Given the description of an element on the screen output the (x, y) to click on. 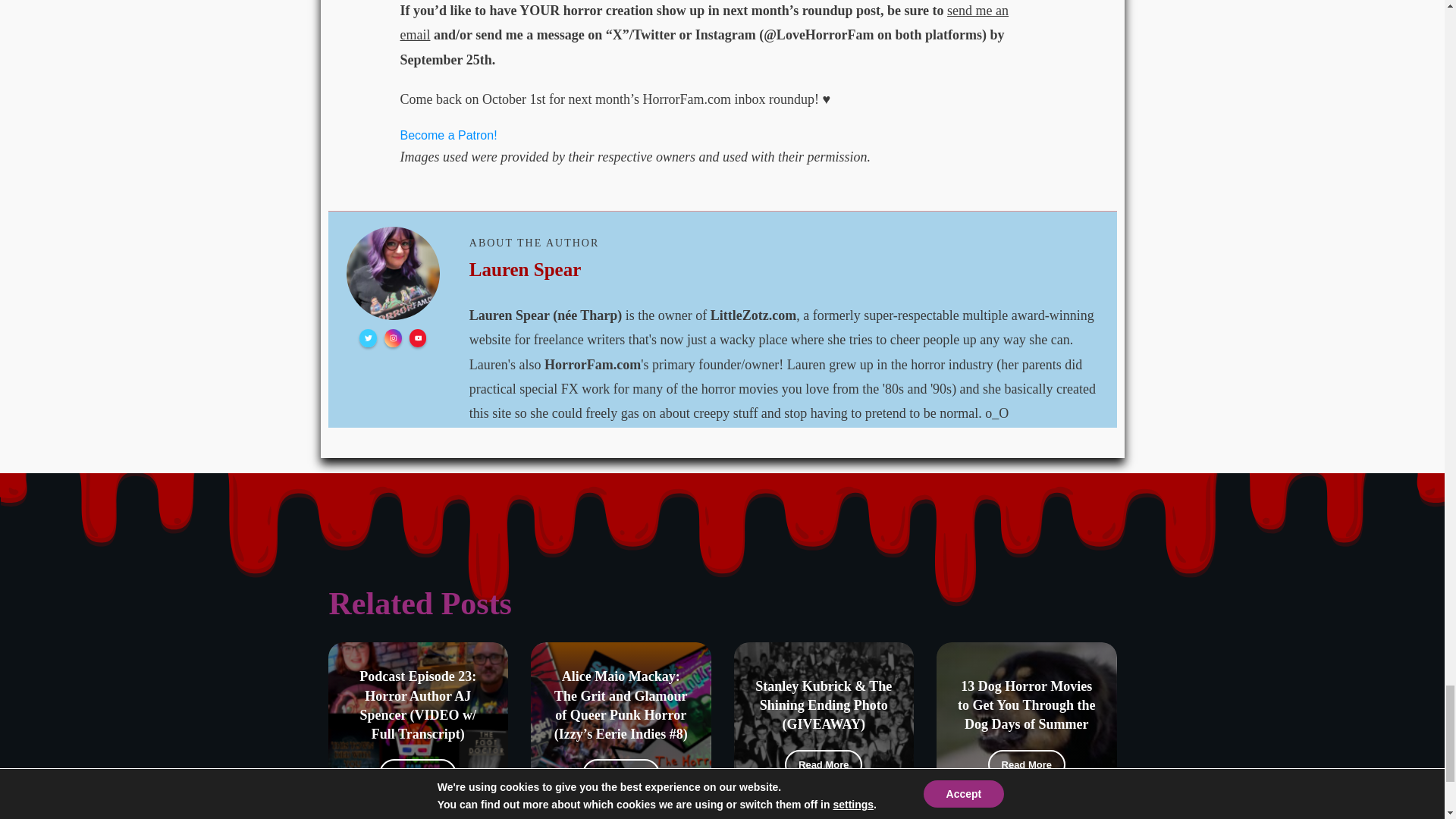
Become a Patron! (448, 134)
send me an email (704, 22)
Lauren Spear (524, 269)
